Given the description of an element on the screen output the (x, y) to click on. 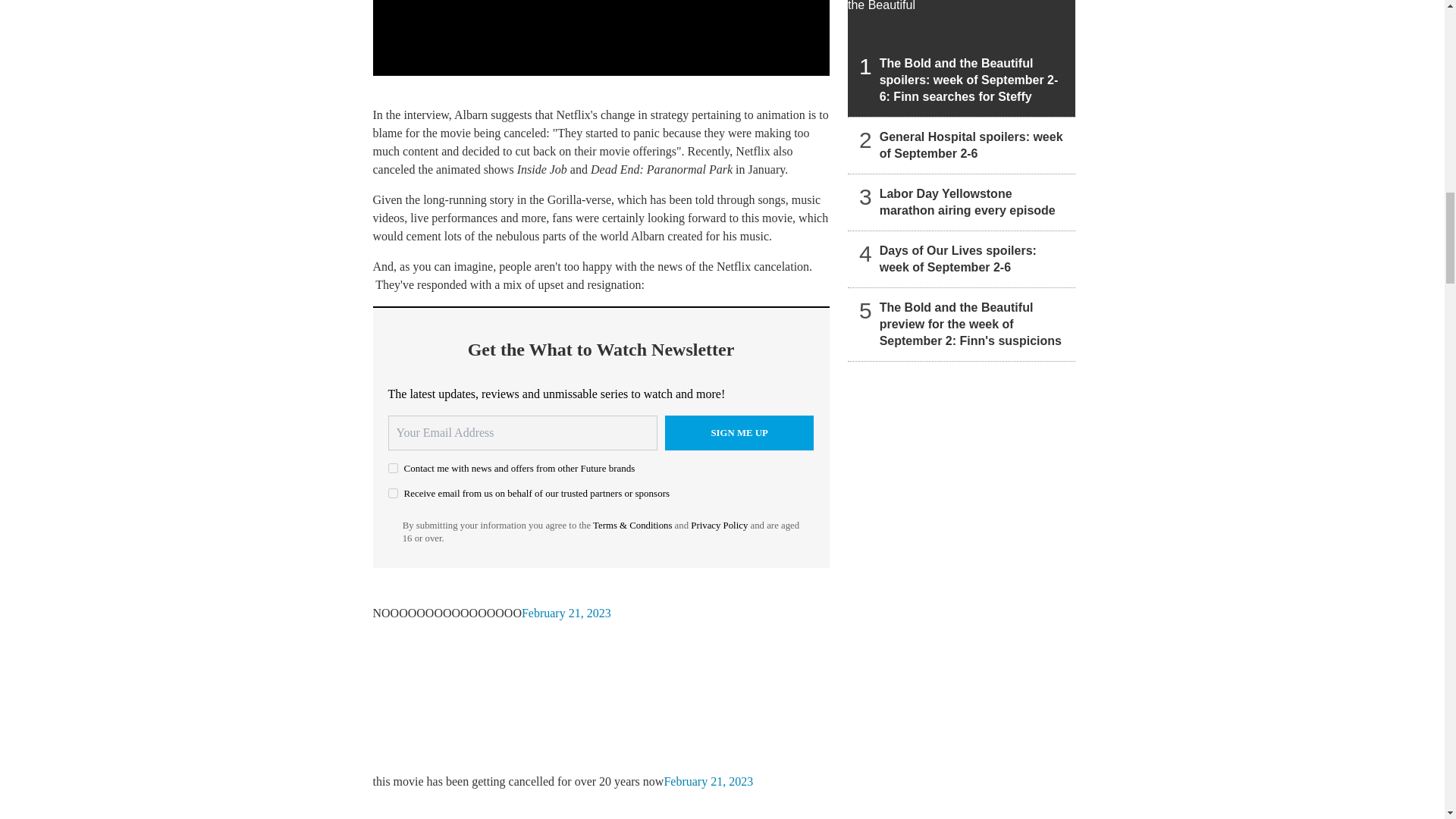
on (392, 492)
Sign me up (739, 432)
on (392, 468)
